Given the description of an element on the screen output the (x, y) to click on. 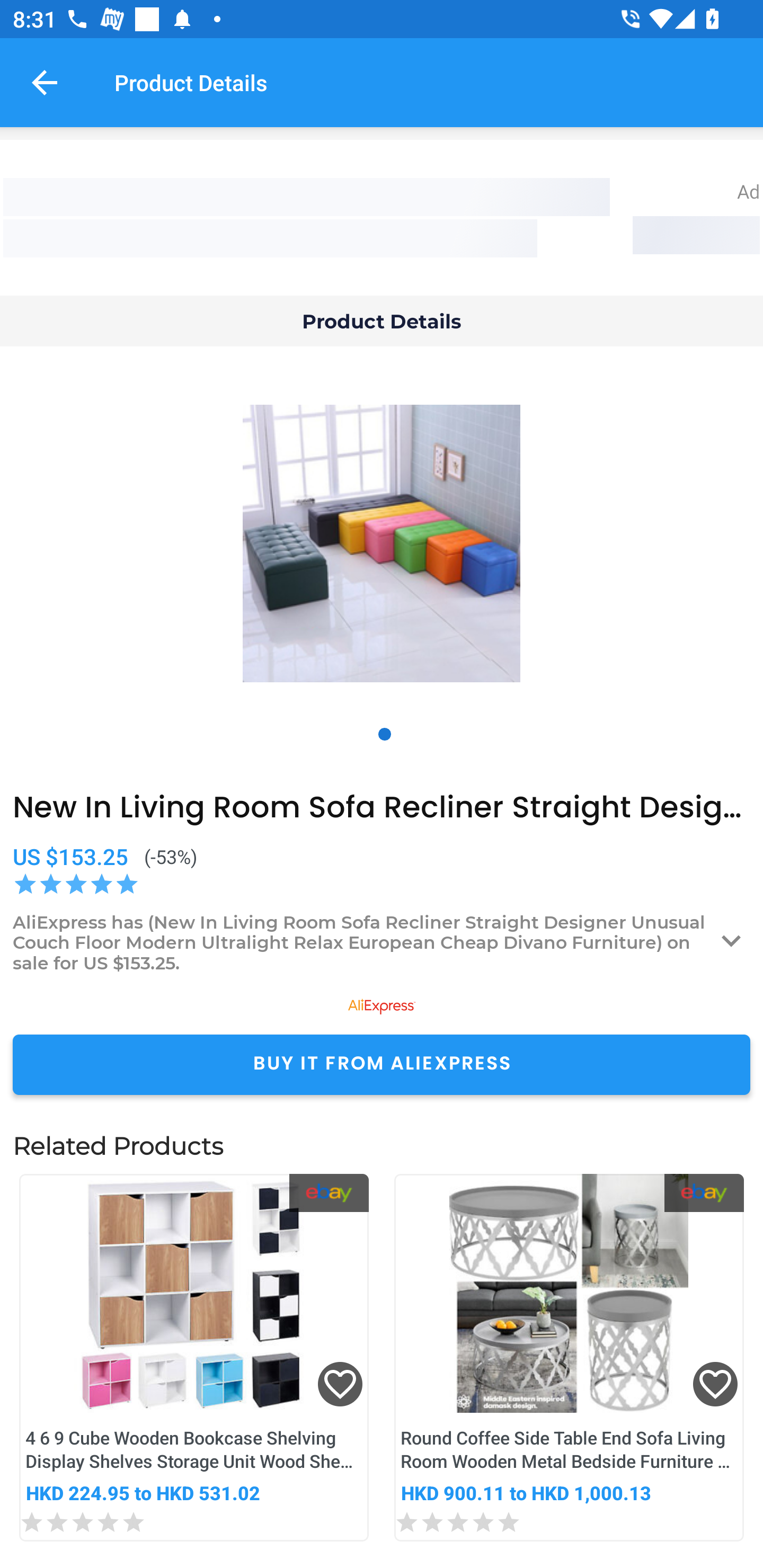
Navigate up (44, 82)
BUY IT FROM ALIEXPRESS (381, 1064)
